Given the description of an element on the screen output the (x, y) to click on. 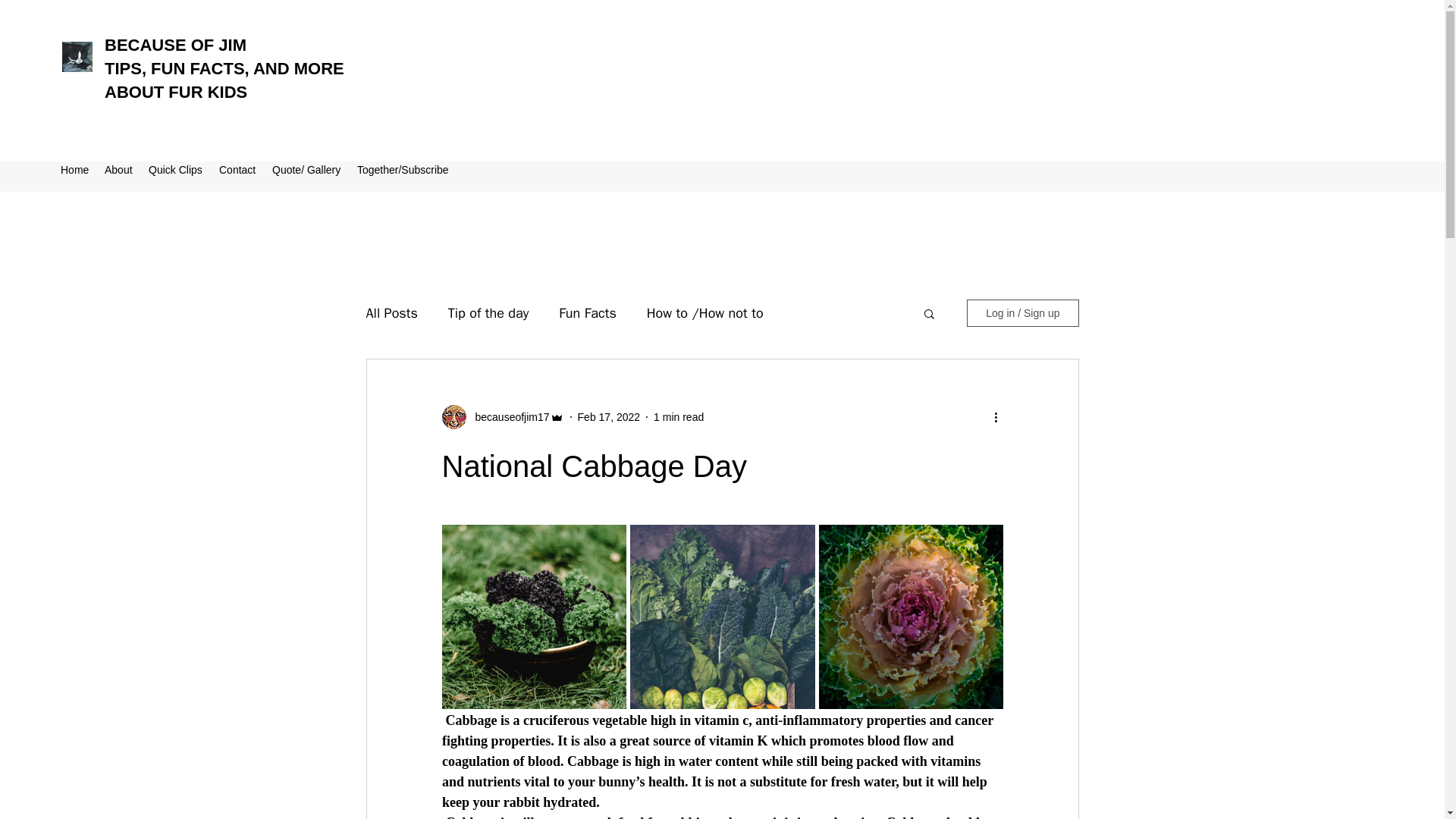
Home (74, 170)
Feb 17, 2022 (609, 417)
TIPS, FUN FACTS, AND MORE ABOUT FUR KIDS (223, 79)
1 min read (678, 417)
BECAUSE OF JIM (175, 45)
becauseofjim17 (506, 417)
Quick Clips (176, 170)
Contact (237, 170)
All Posts (390, 312)
Fun Facts (587, 312)
